Given the description of an element on the screen output the (x, y) to click on. 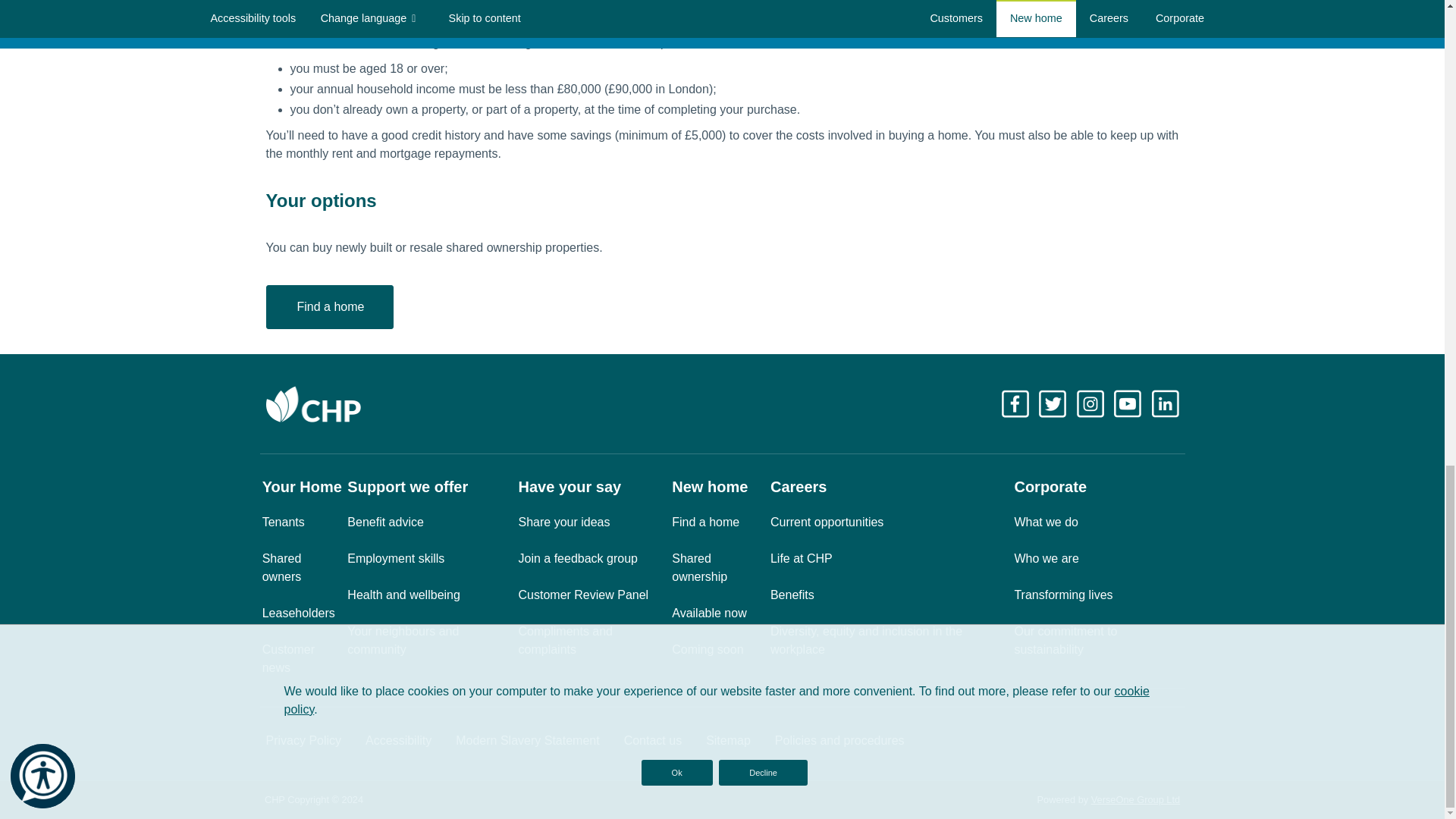
Opens in a new window (1053, 402)
New homes (328, 307)
Opens in a new window (1128, 402)
Opens in a new window (1164, 402)
Opens in a new window (1091, 402)
Opens in a new window (1016, 402)
Opens in a new window (1134, 799)
